Given the description of an element on the screen output the (x, y) to click on. 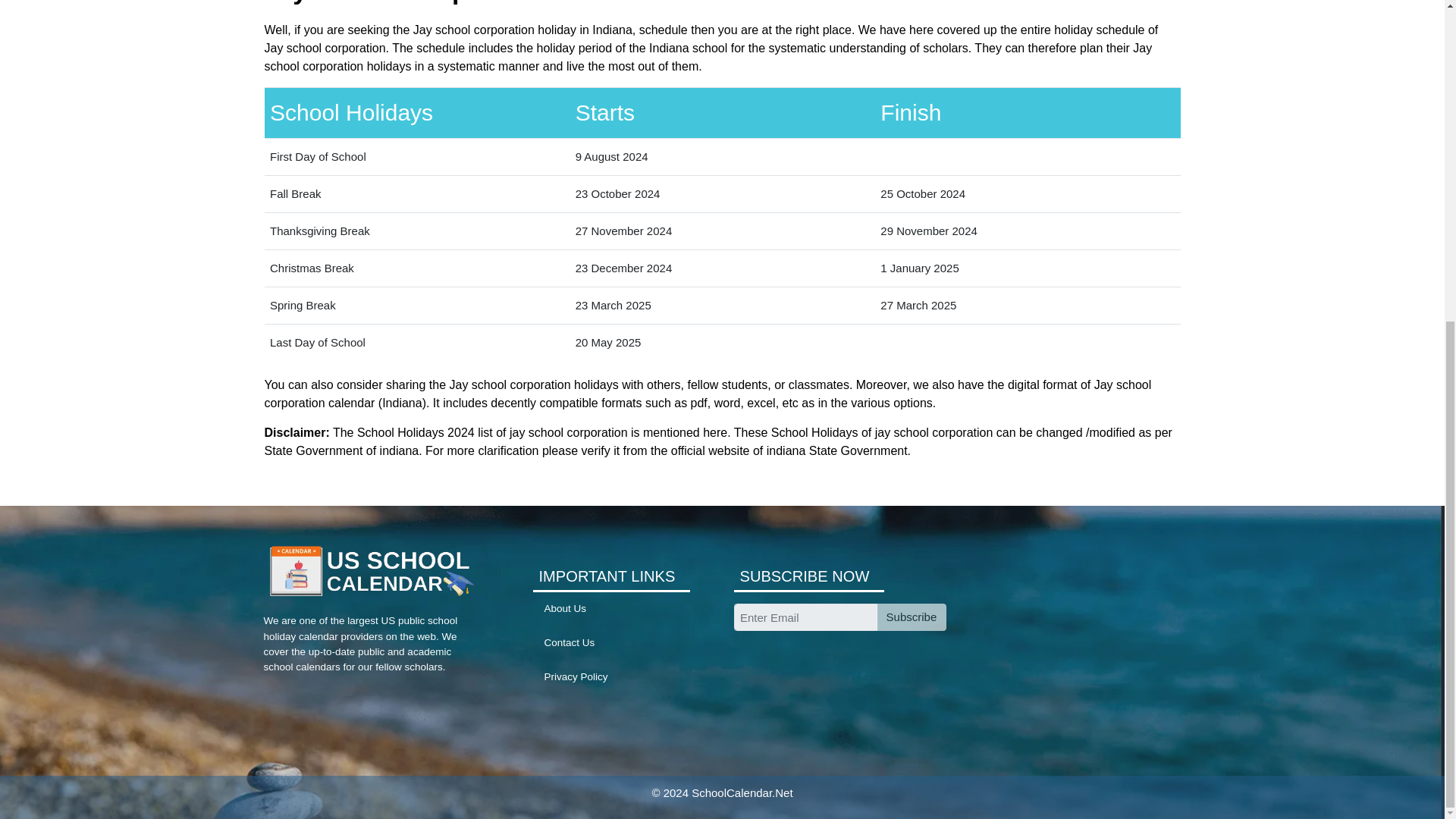
About Us (565, 608)
Privacy Policy (576, 676)
Subscribe (910, 616)
Contact Us (569, 642)
